Given the description of an element on the screen output the (x, y) to click on. 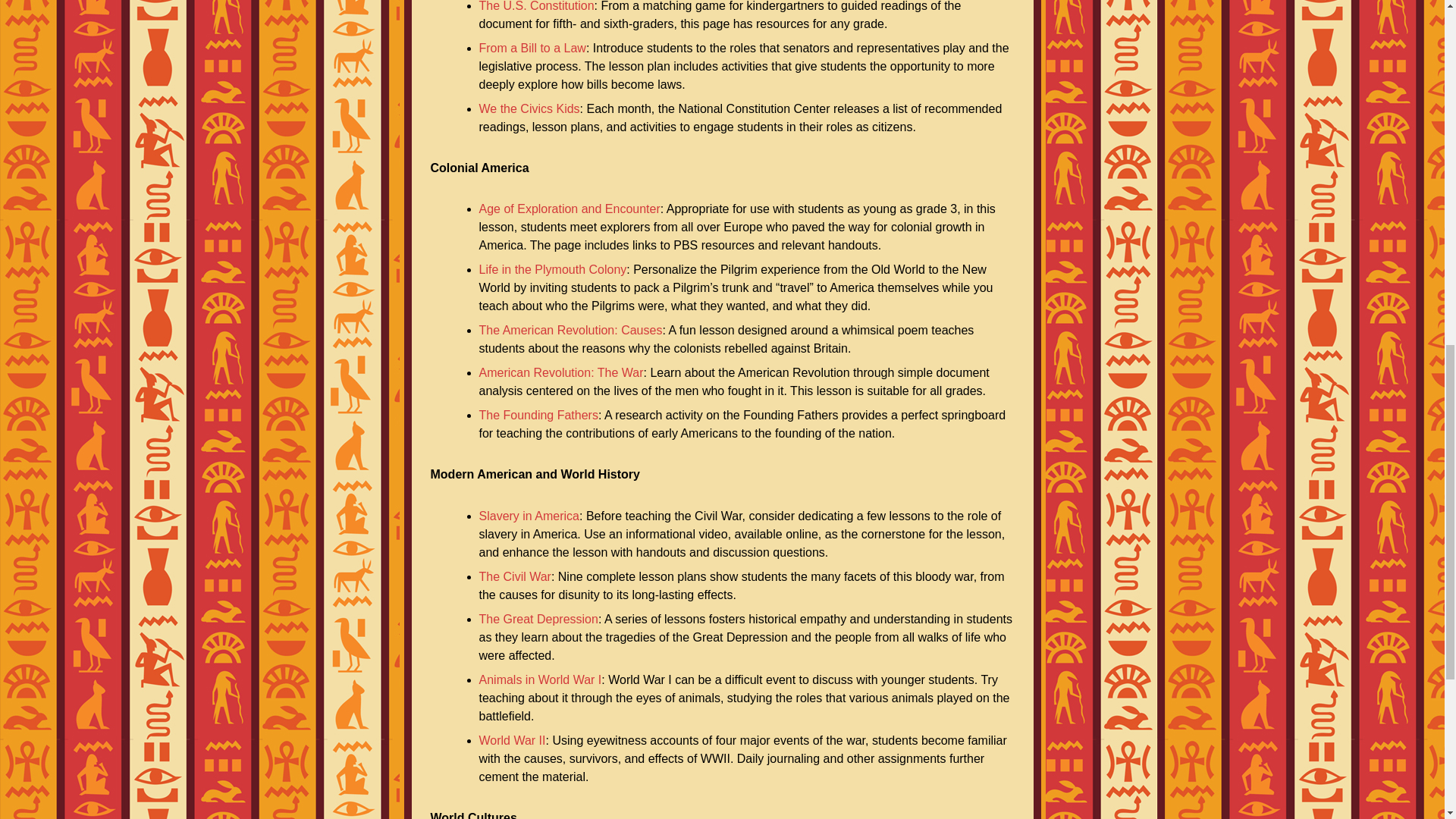
The Founding Fathers (538, 414)
Age of Exploration and Encounter (570, 208)
We the Civics Kids (529, 108)
World War II (512, 739)
From a Bill to a Law (532, 47)
American Revolution: The War (561, 372)
The Great Depression (538, 618)
The Civil War (515, 576)
Life in the Plymouth Colony (553, 269)
The U.S. Constitution (536, 6)
